Given the description of an element on the screen output the (x, y) to click on. 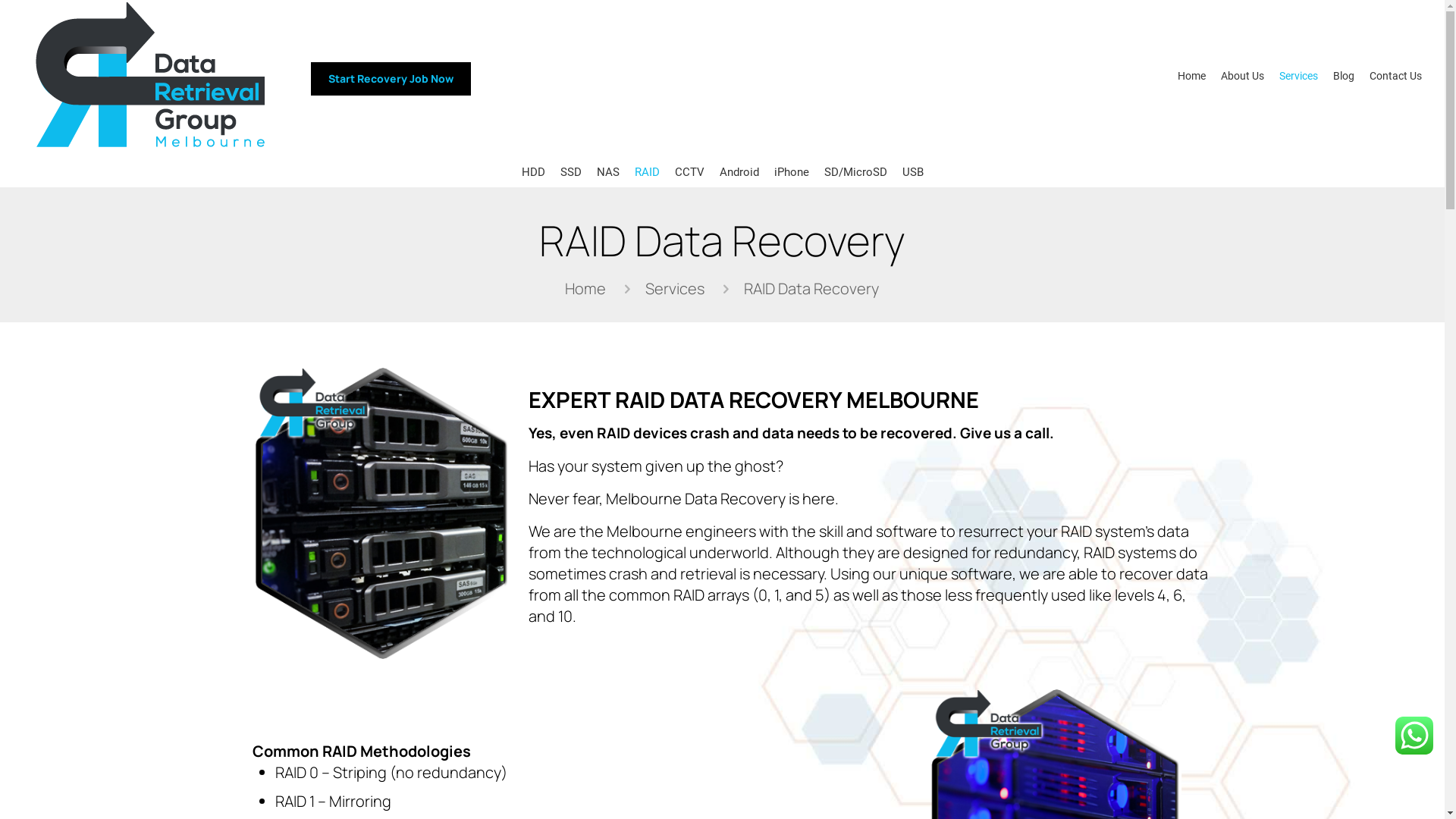
Blog Element type: text (1343, 75)
Services Element type: text (1298, 75)
Home Element type: text (584, 288)
CCTV Element type: text (689, 171)
Contact Us Element type: text (1395, 75)
Android Element type: text (738, 171)
Home Element type: text (1191, 75)
SD/MicroSD Element type: text (854, 171)
NAS Element type: text (607, 171)
Melbourne Data Recovery Element type: hover (147, 145)
About Us Element type: text (1242, 75)
Start Recovery Job Now Element type: text (390, 78)
RAID Element type: text (646, 171)
HDD Element type: text (533, 171)
iPhone Element type: text (790, 171)
Services Element type: text (674, 288)
USB Element type: text (912, 171)
SSD Element type: text (570, 171)
